Given the description of an element on the screen output the (x, y) to click on. 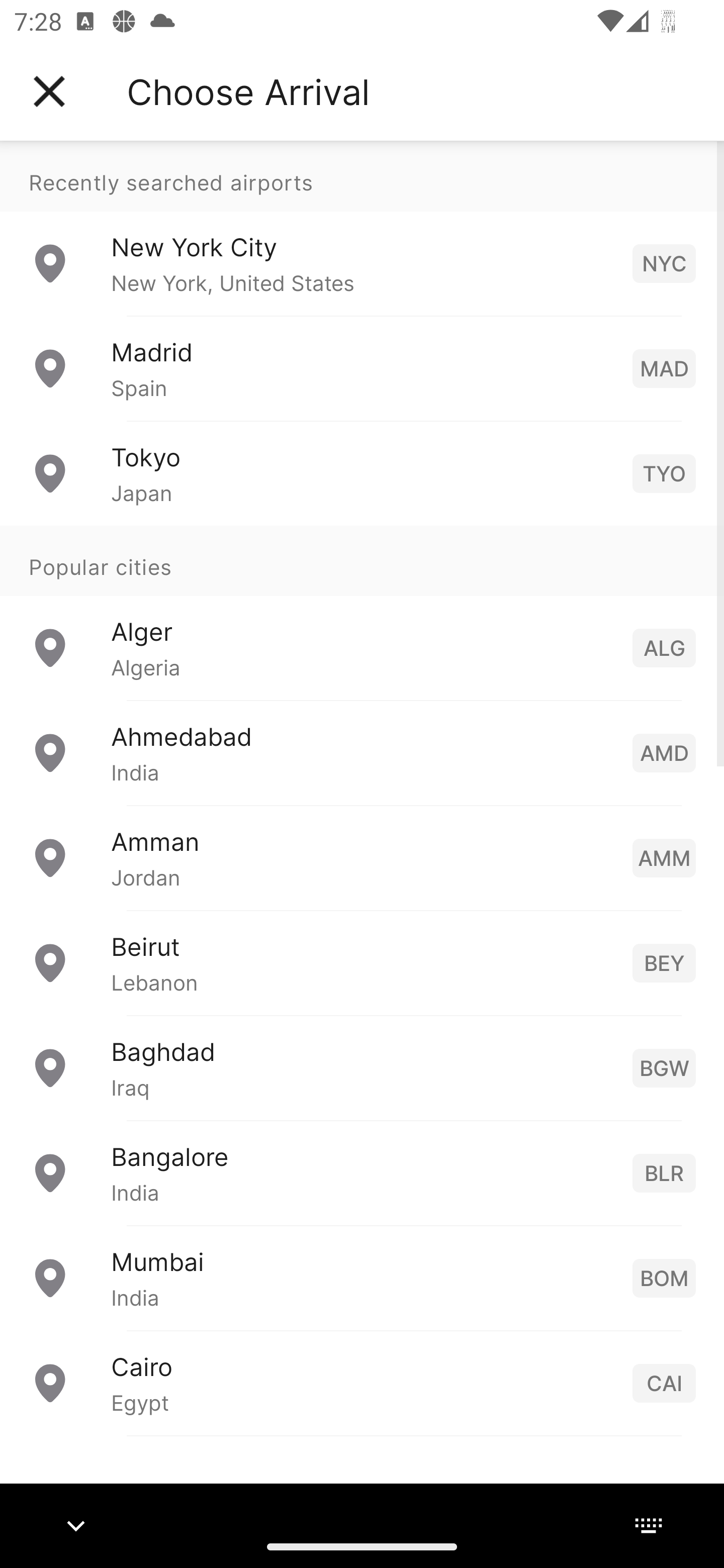
Choose Arrival (247, 91)
Recently searched airports (362, 176)
Madrid Spain MAD (362, 367)
Tokyo Japan TYO (362, 472)
Popular cities Alger Algeria ALG (362, 612)
Popular cities (362, 560)
Ahmedabad India AMD (362, 751)
Amman Jordan AMM (362, 856)
Beirut Lebanon BEY (362, 961)
Baghdad Iraq BGW (362, 1066)
Bangalore India BLR (362, 1171)
Mumbai India BOM (362, 1276)
Cairo Egypt CAI (362, 1381)
